Given the description of an element on the screen output the (x, y) to click on. 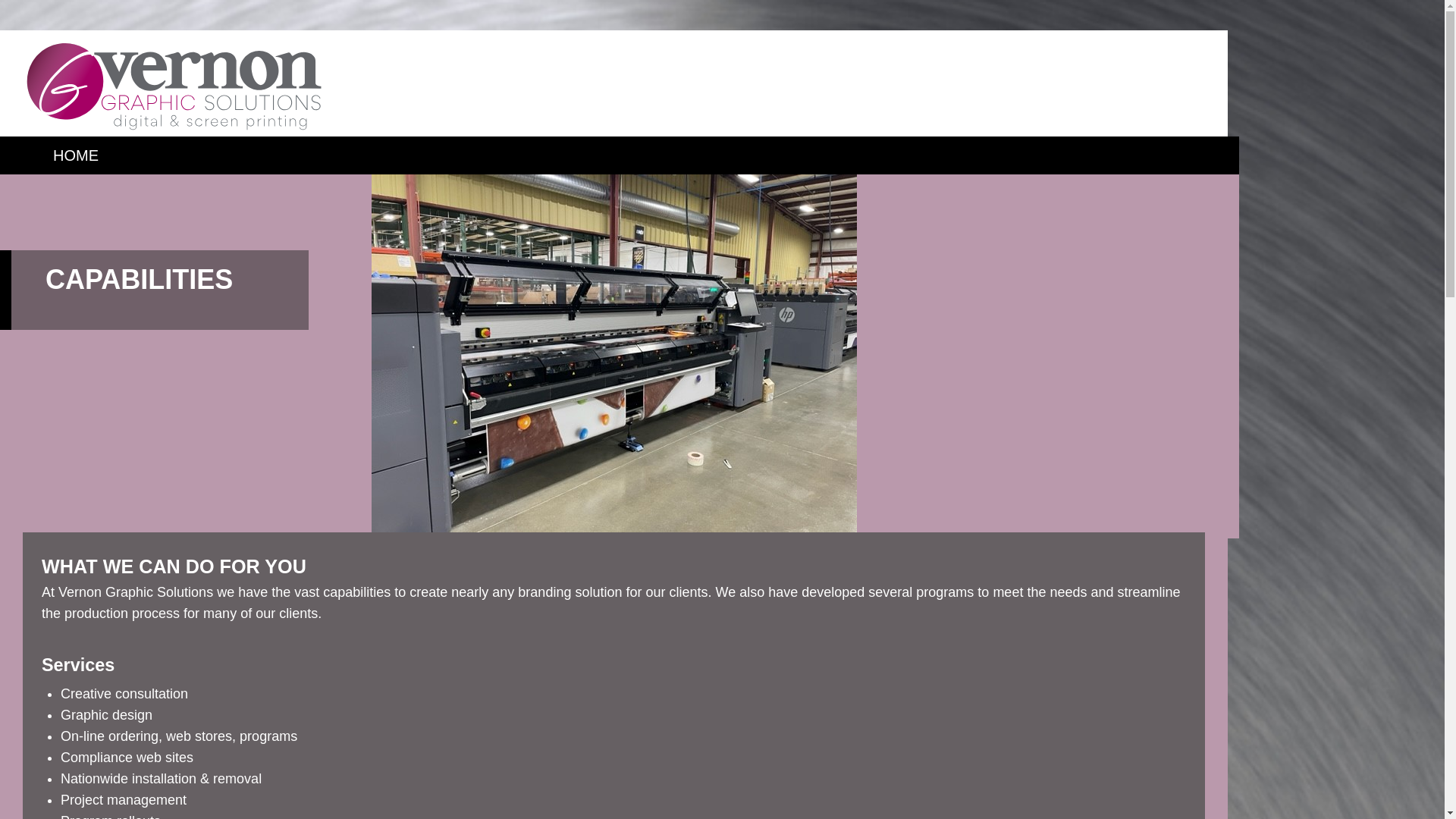
COMPANY (90, 193)
HOME (75, 155)
Search... (599, 161)
OUR WORK (95, 269)
Go (45, 184)
Vernon Graphic Solutions (174, 86)
Go (45, 184)
BLOG (74, 306)
CAPABILITIES (103, 231)
Search... (599, 161)
CONTACT US (101, 344)
Go (45, 184)
